Given the description of an element on the screen output the (x, y) to click on. 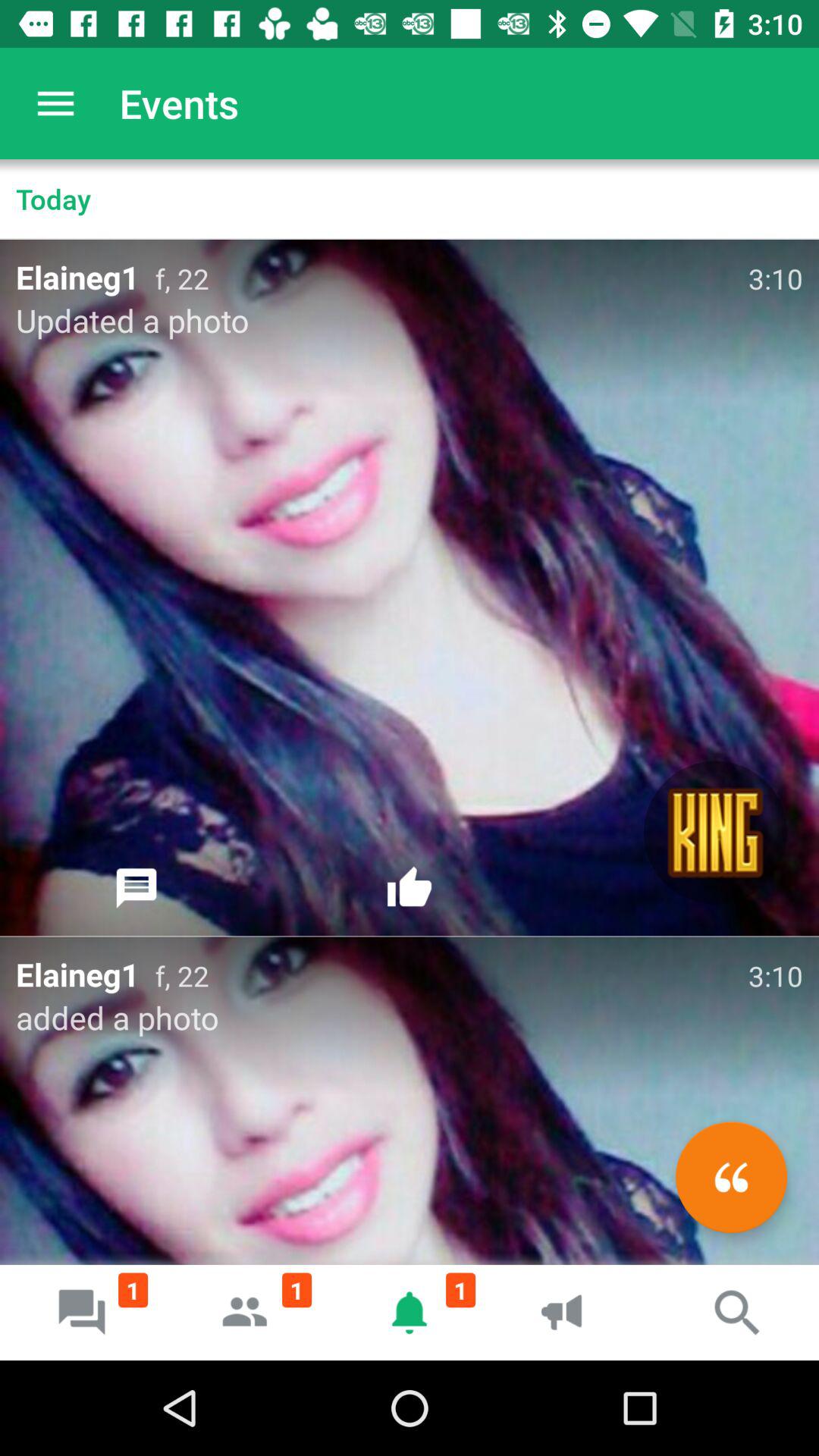
like option (409, 888)
